Given the description of an element on the screen output the (x, y) to click on. 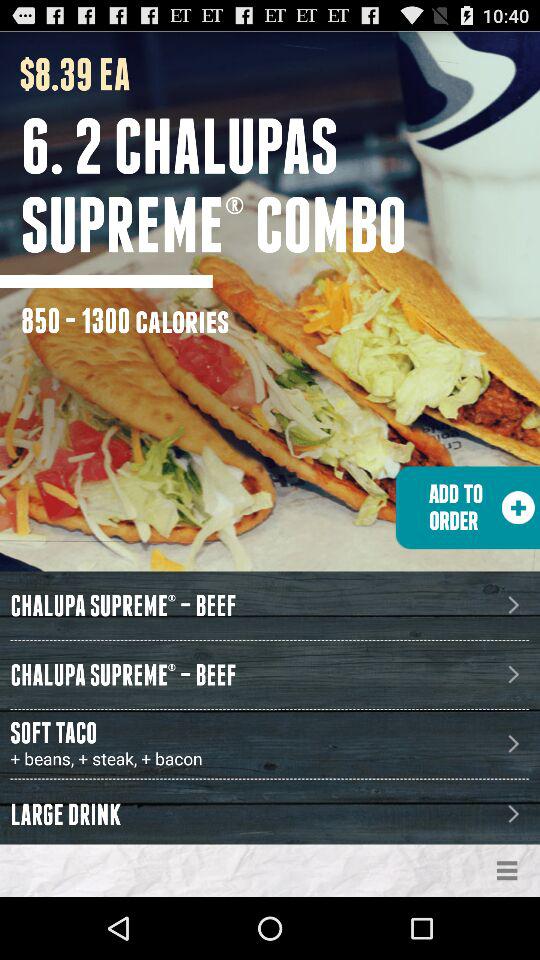
turn off the 850 - 1300 calories item (125, 320)
